Given the description of an element on the screen output the (x, y) to click on. 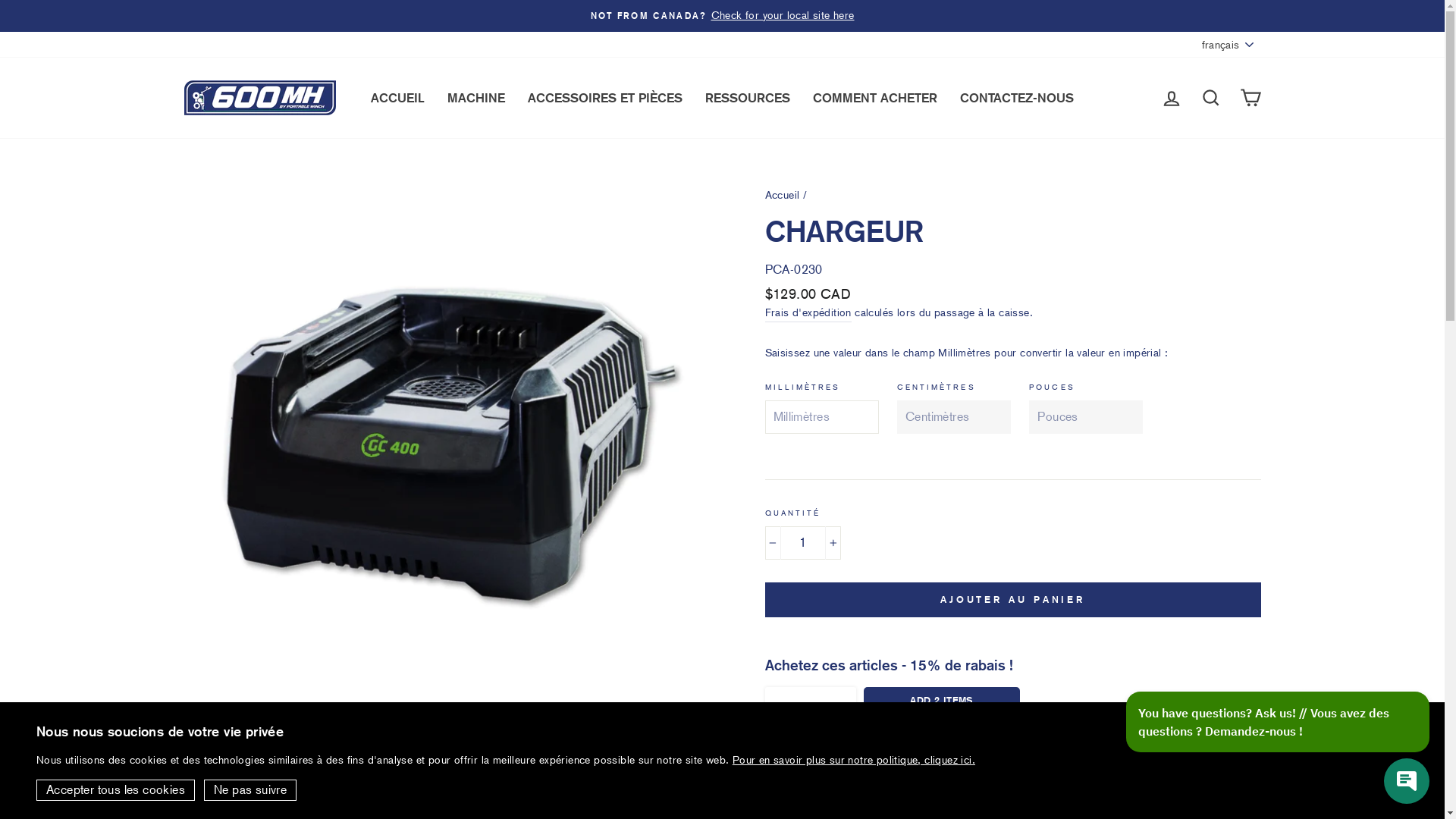
Se connecter Element type: text (1170, 97)
ACCUEIL Element type: text (397, 97)
Accueil Element type: text (781, 194)
MACHINE Element type: text (476, 97)
+ Element type: text (832, 542)
Passer au contenu Element type: text (0, 0)
Rechercher Element type: text (1210, 97)
CHARGEUR Element type: text (809, 794)
Pour en savoir plus sur notre politique, cliquez ici. Element type: text (853, 759)
CONTACTEZ-NOUS Element type: text (1016, 97)
Panier Element type: text (1249, 97)
NOT FROM CANADA?Check for your local site here Element type: text (722, 15)
COMMENT ACHETER Element type: text (874, 97)
AJOUTER AU PANIER Element type: text (1012, 599)
RESSOURCES Element type: text (747, 97)
